Given the description of an element on the screen output the (x, y) to click on. 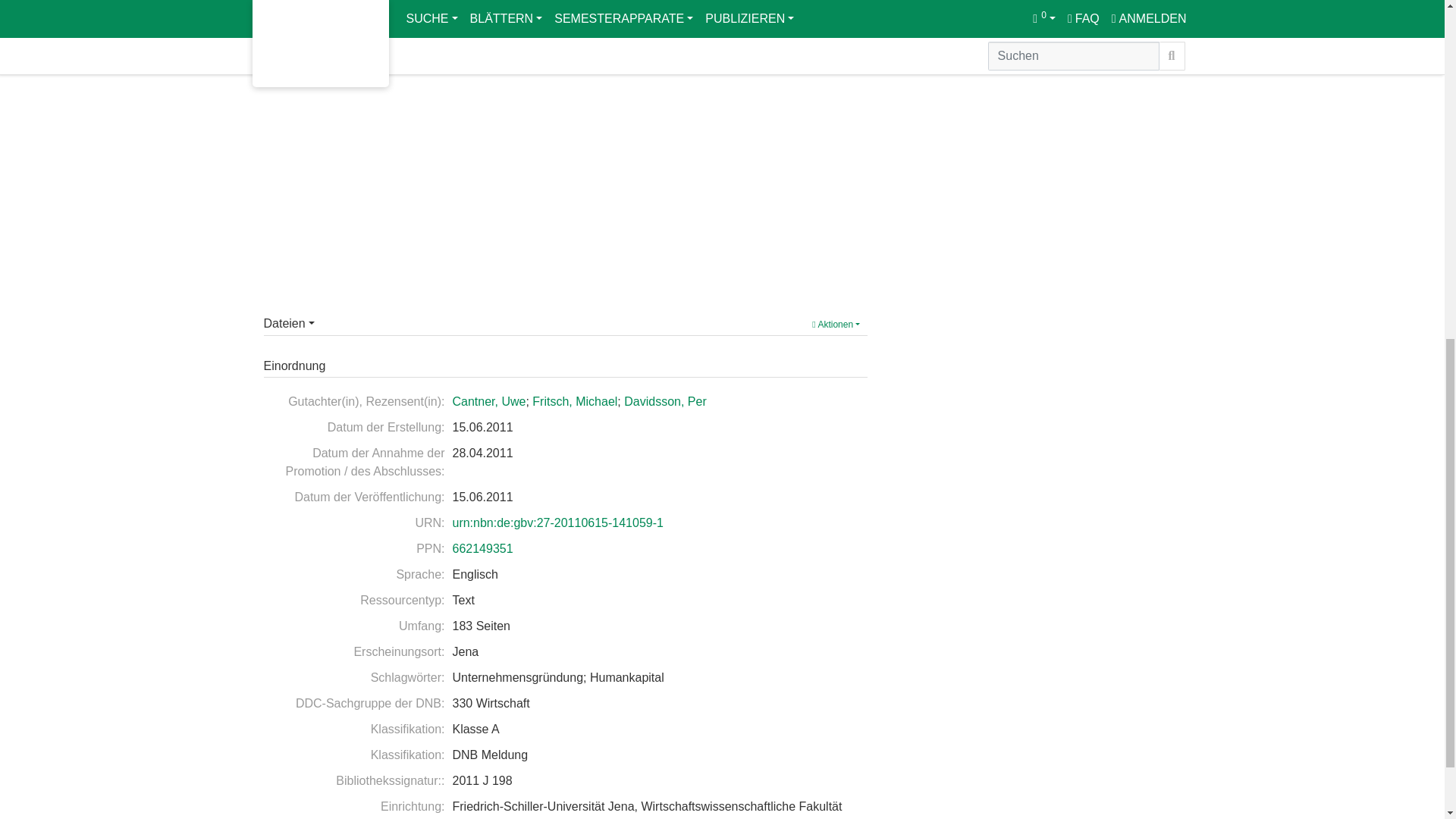
Dateien (288, 323)
Aktionen (836, 323)
